Given the description of an element on the screen output the (x, y) to click on. 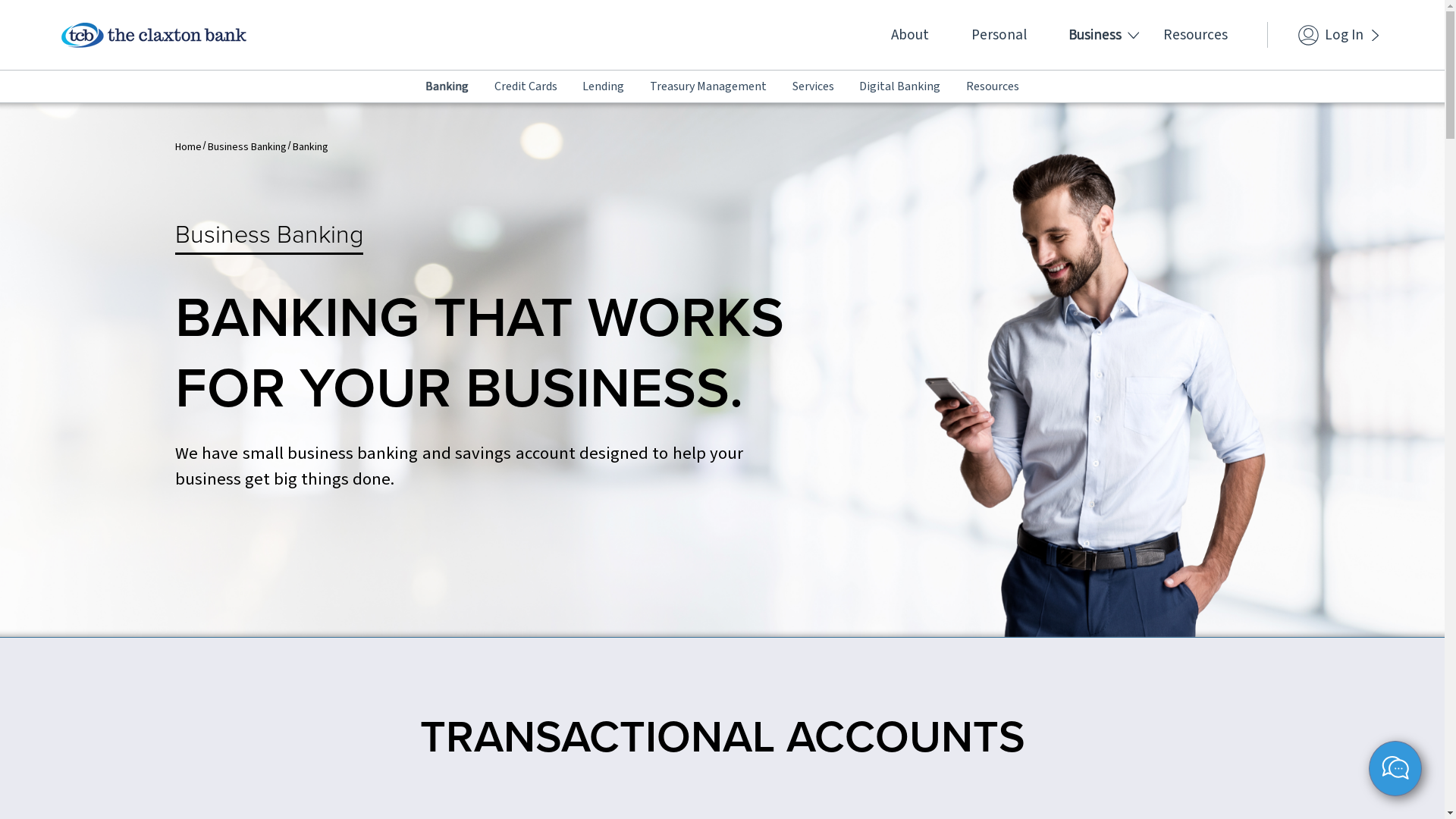
Resources Element type: text (1207, 34)
Lending Element type: text (603, 86)
Home Element type: text (188, 146)
Services Element type: text (812, 86)
Digital Banking Element type: text (899, 86)
Personal Element type: text (1010, 34)
Business Element type: text (1106, 34)
Resources Element type: text (992, 86)
Business Banking Element type: text (246, 146)
Treasury Management Element type: text (708, 86)
About Element type: text (921, 34)
Banking Element type: text (446, 86)
Credit Cards Element type: text (525, 86)
Log In Element type: text (1325, 34)
Banking Element type: text (310, 146)
